Given the description of an element on the screen output the (x, y) to click on. 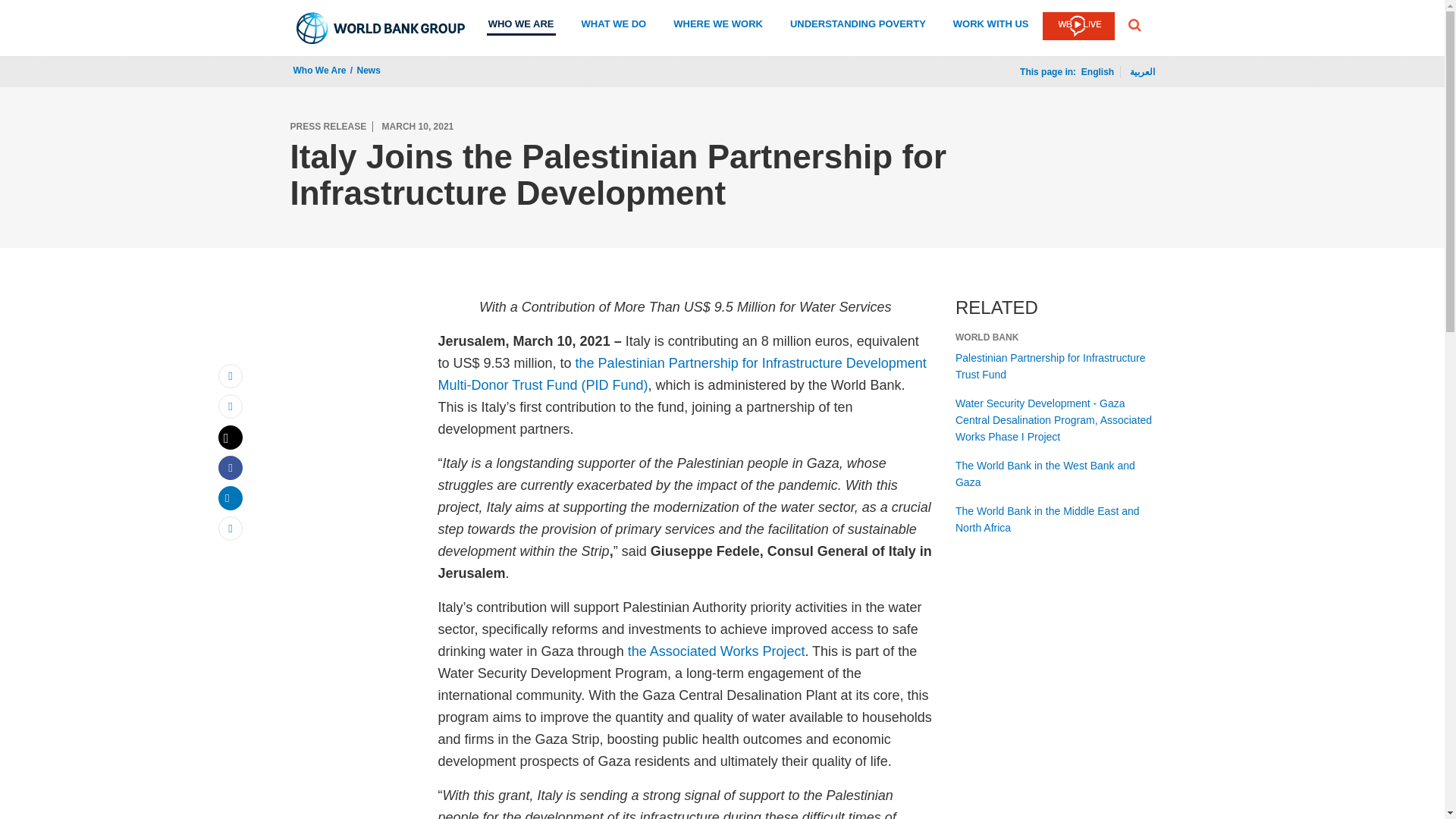
WHAT WE DO (613, 25)
WHO WE ARE (521, 25)
Facebook (230, 467)
Share (230, 498)
Tweet (230, 437)
Print (230, 405)
Global Search (1134, 24)
Share (230, 528)
The World Bank Group logo (380, 28)
